Given the description of an element on the screen output the (x, y) to click on. 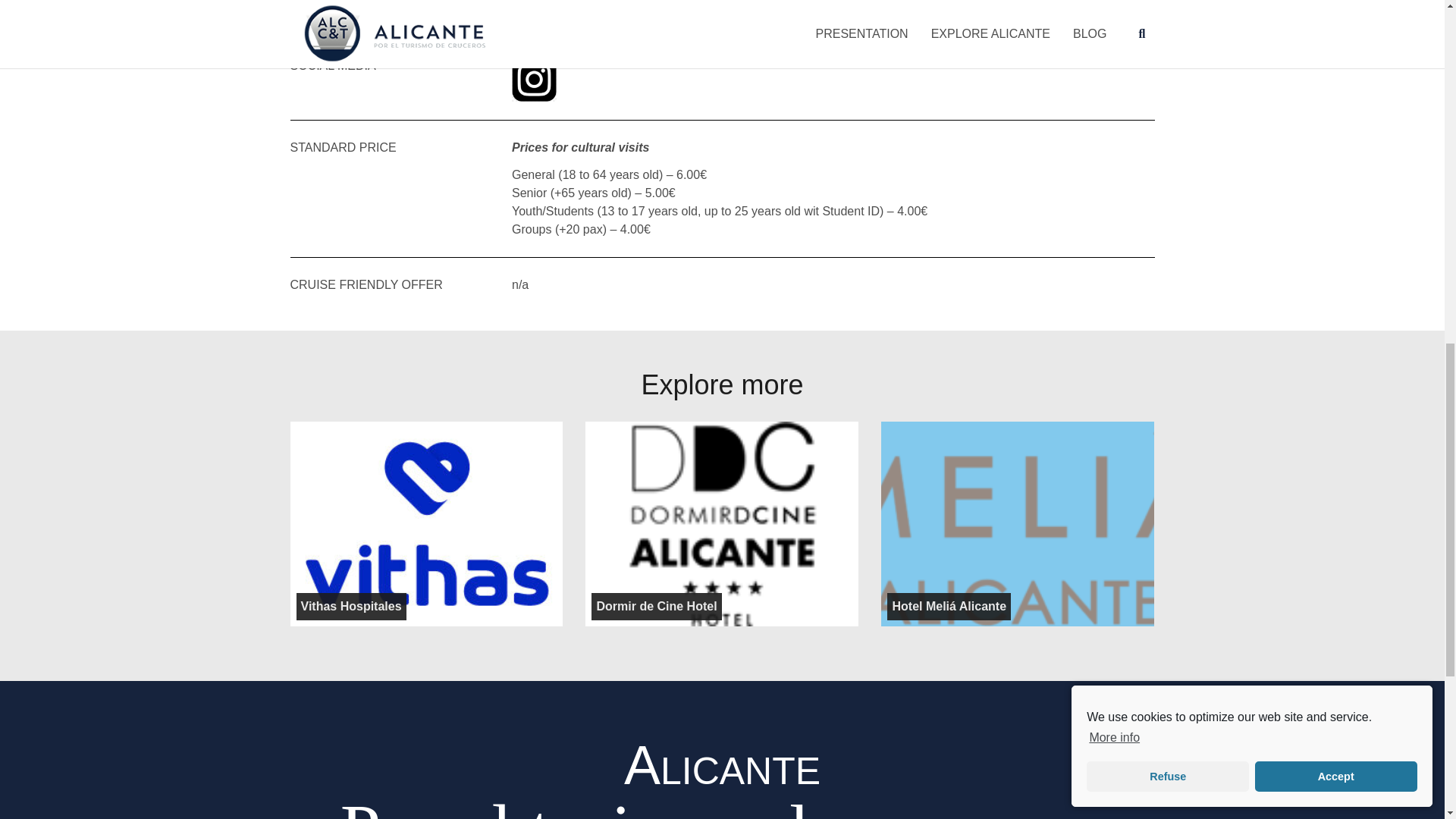
Dormir de Cine Hotel (655, 605)
basilicaalicante.com (566, 10)
Vithas Hospitales (350, 605)
